Given the description of an element on the screen output the (x, y) to click on. 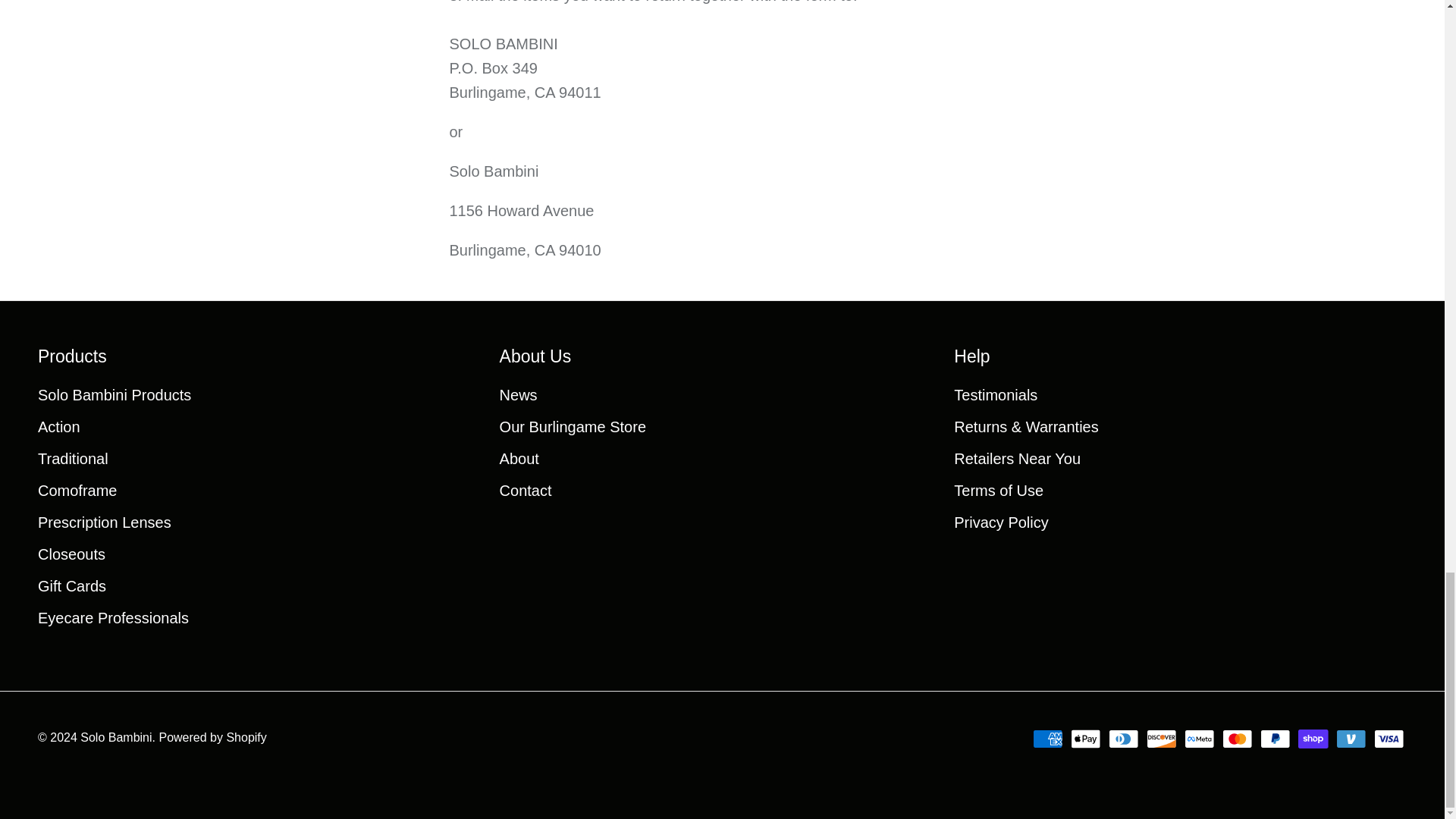
Shop Pay (1312, 738)
Discover (1161, 738)
Mastercard (1237, 738)
Venmo (1350, 738)
Apple Pay (1085, 738)
PayPal (1275, 738)
Diners Club (1123, 738)
Visa (1388, 738)
Meta Pay (1199, 738)
American Express (1047, 738)
